Given the description of an element on the screen output the (x, y) to click on. 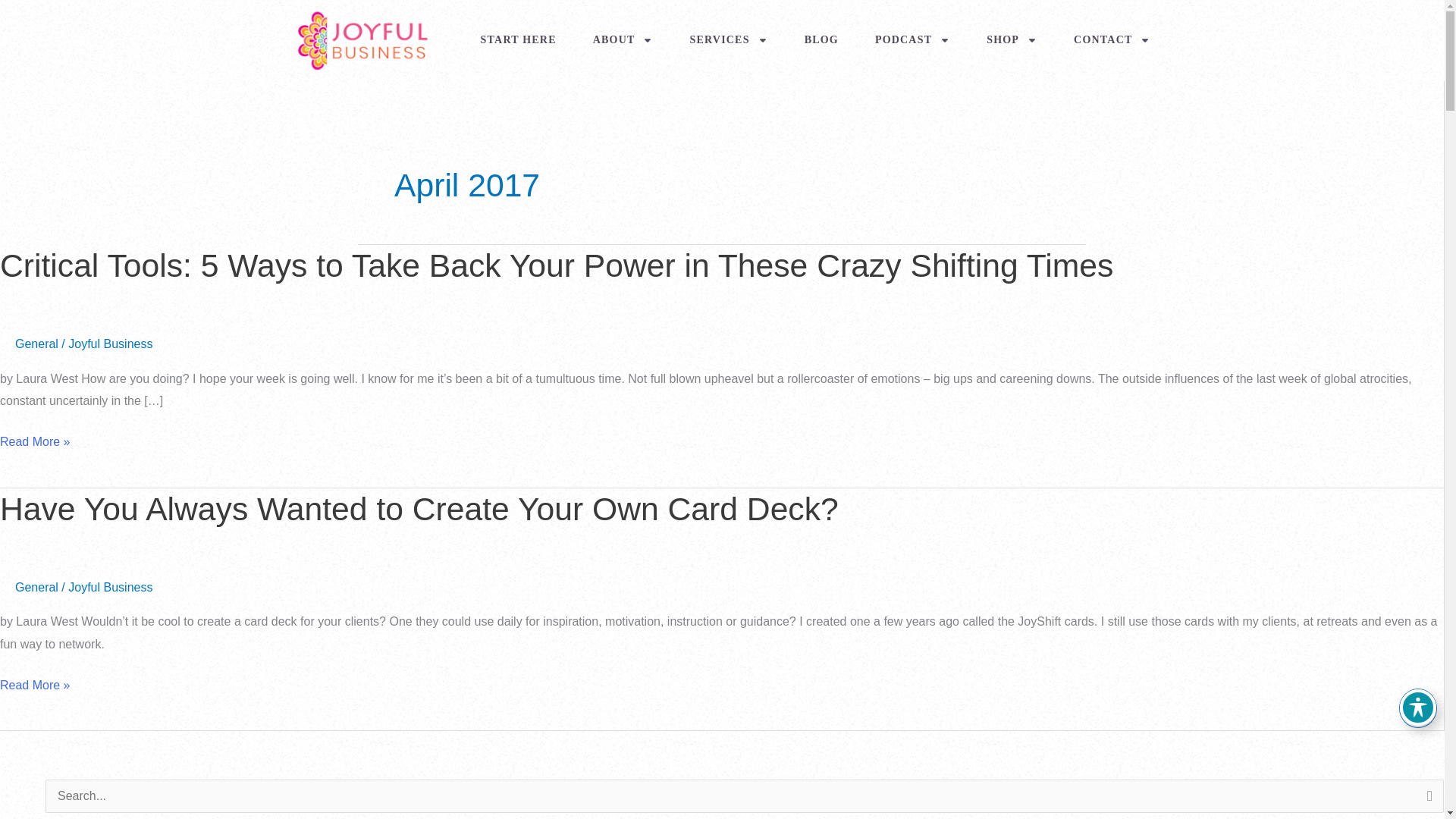
SHOP (1011, 39)
BLOG (821, 39)
CONTACT (1112, 39)
ABOUT (623, 39)
PODCAST (911, 39)
View all posts by Joyful Business (110, 586)
SERVICES (728, 39)
START HERE (518, 39)
View all posts by Joyful Business (110, 343)
